Given the description of an element on the screen output the (x, y) to click on. 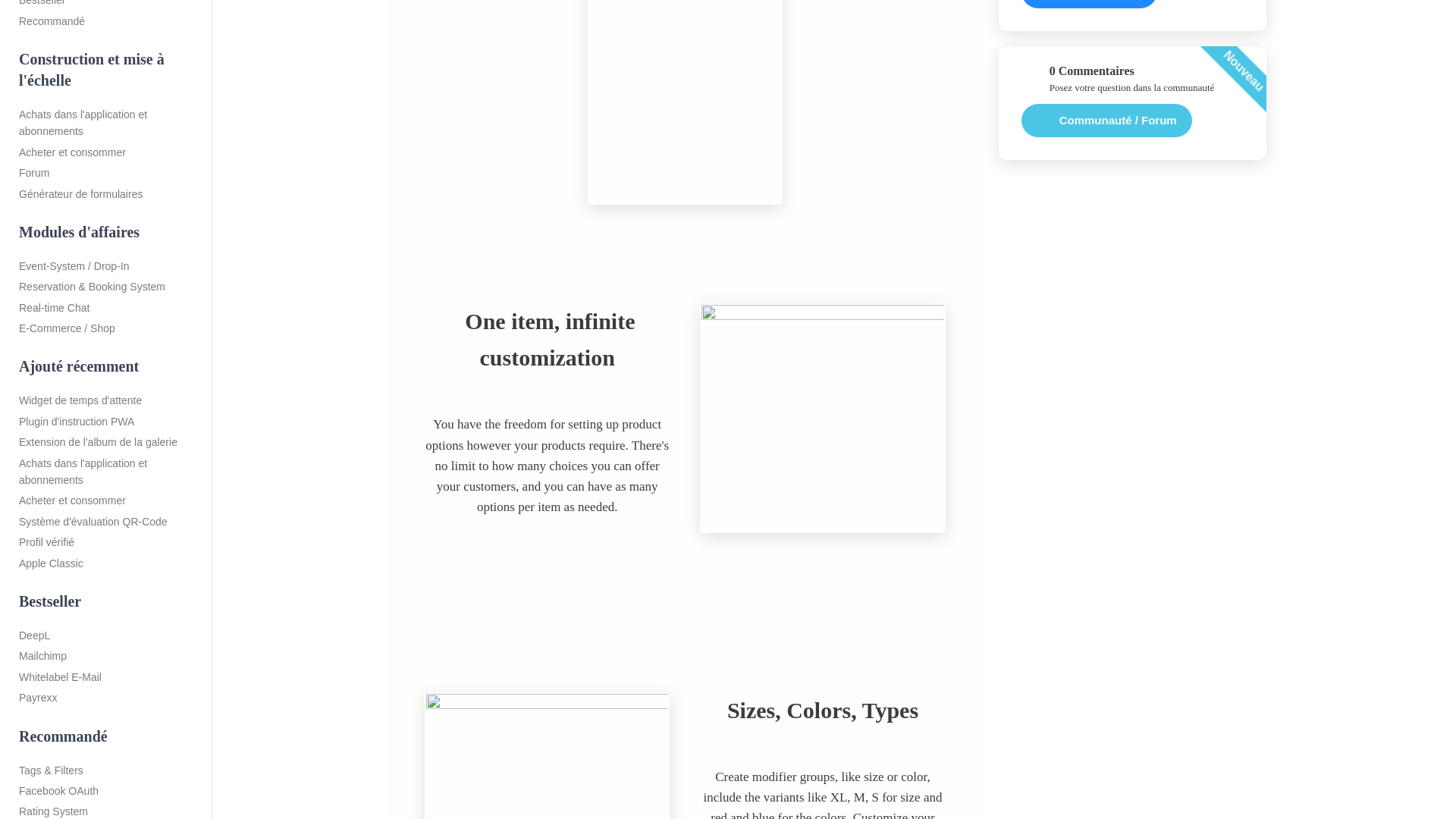
Forum (106, 170)
Acheter et consommer (106, 150)
Achats dans l'application et abonnements (106, 121)
Bestseller (106, 4)
Real-time Chat (106, 305)
